Given the description of an element on the screen output the (x, y) to click on. 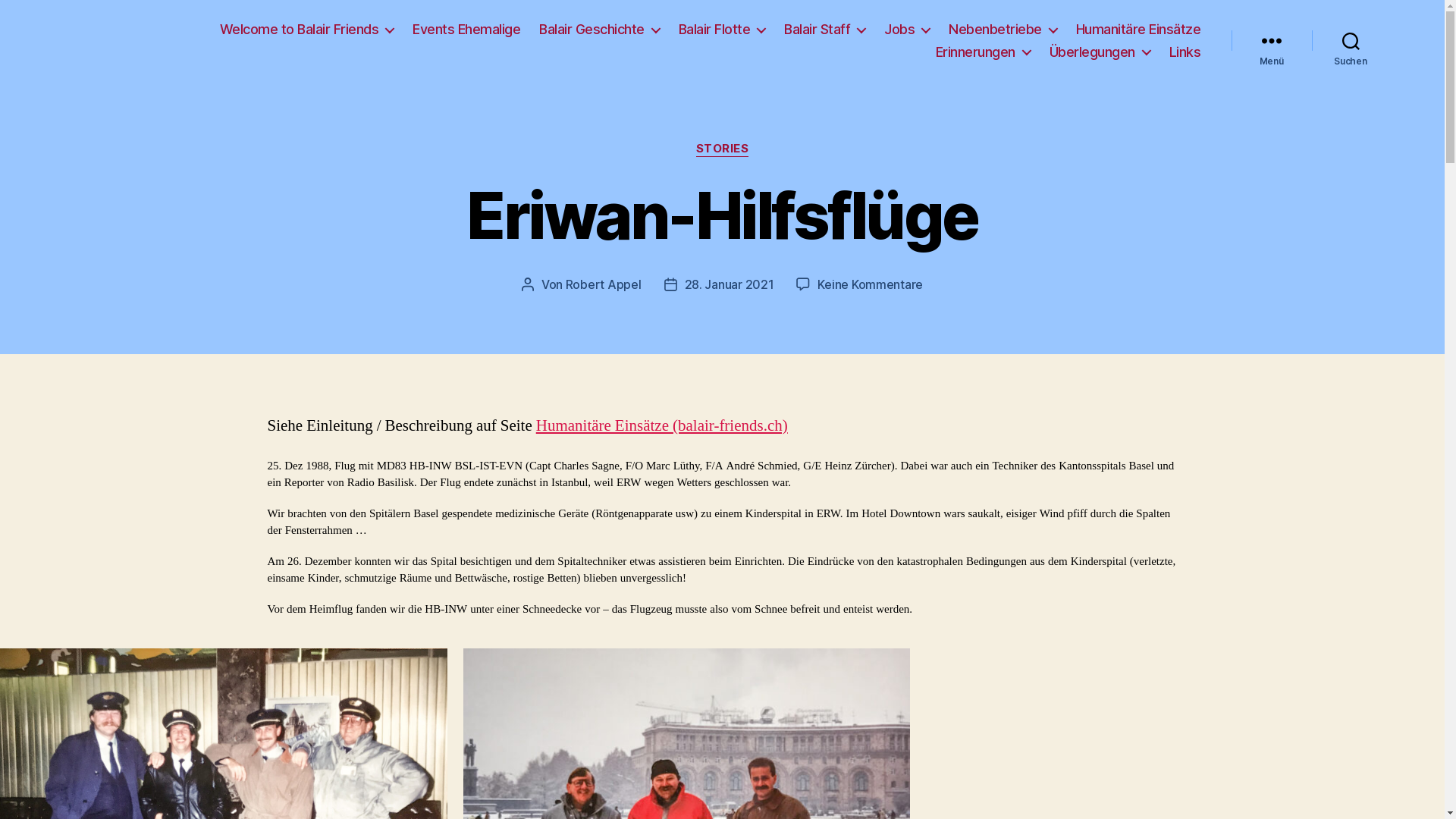
Links Element type: text (1185, 51)
Suchen Element type: text (1350, 40)
Events Ehemalige Element type: text (466, 29)
Jobs Element type: text (906, 29)
Balair Staff Element type: text (824, 29)
Welcome to Balair Friends Element type: text (306, 29)
Balair Geschichte Element type: text (599, 29)
Erinnerungen Element type: text (982, 51)
28. Januar 2021 Element type: text (729, 283)
Nebenbetriebe Element type: text (1002, 29)
Balair Flotte Element type: text (721, 29)
STORIES Element type: text (722, 148)
Robert Appel Element type: text (603, 283)
